Given the description of an element on the screen output the (x, y) to click on. 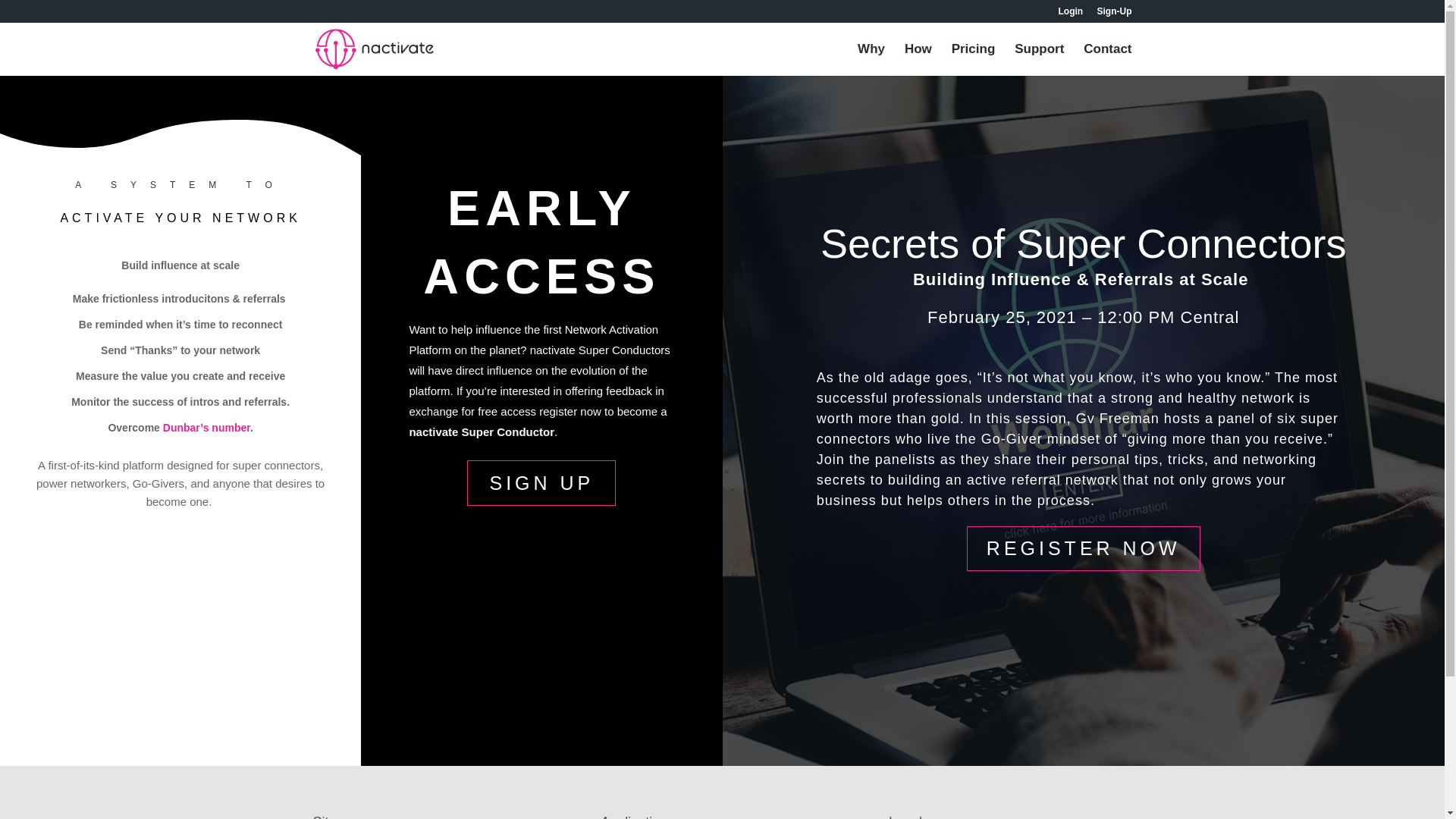
ACTIVATE YOUR NETWORK (180, 217)
Login (1070, 14)
Contact (1107, 60)
Pricing (973, 60)
Sign-Up (1113, 14)
SIGN UP (541, 483)
Support (1039, 60)
